Given the description of an element on the screen output the (x, y) to click on. 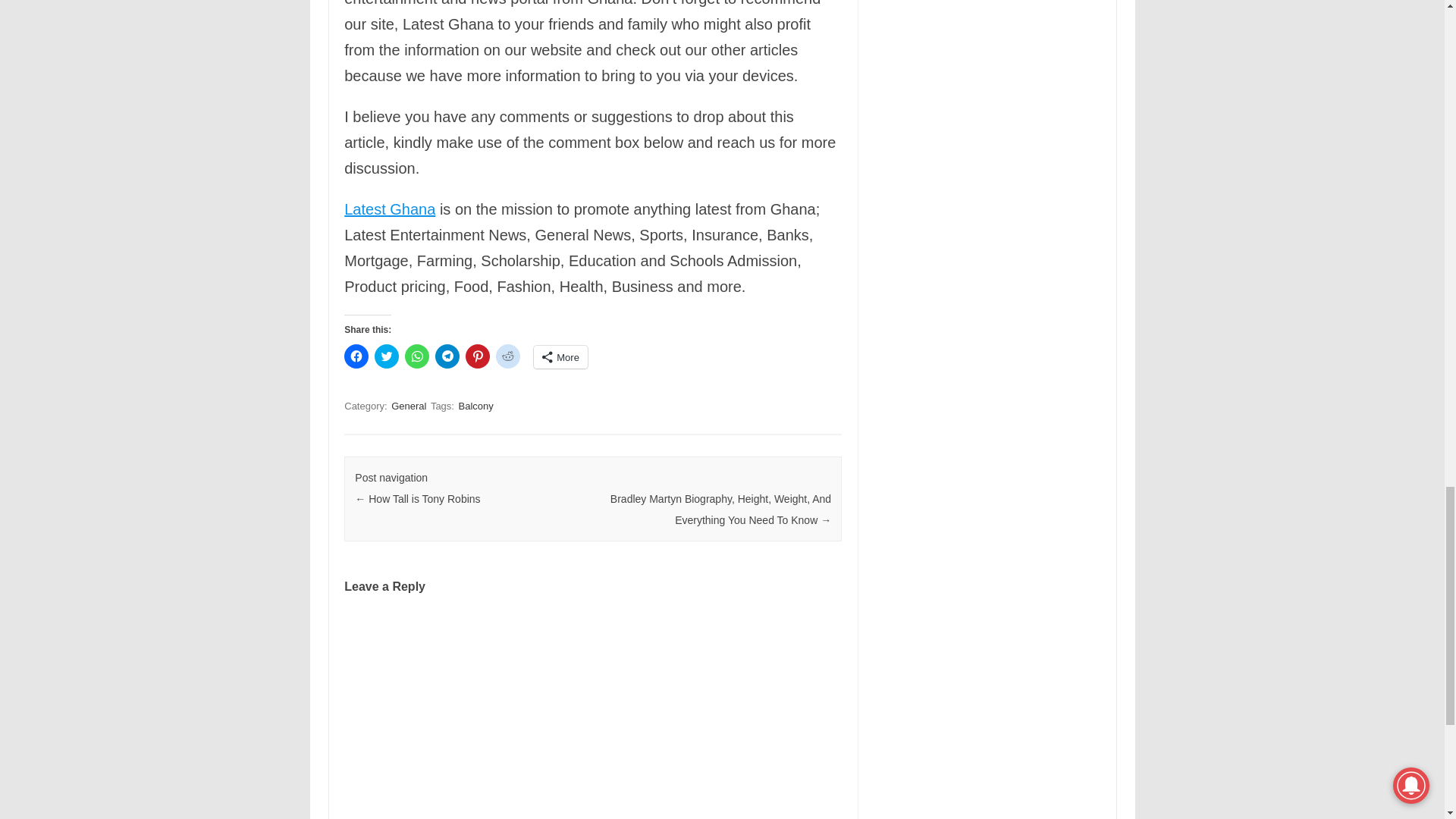
Click to share on Pinterest (477, 355)
Click to share on Reddit (507, 355)
Click to share on Facebook (355, 355)
More (561, 356)
General (409, 405)
Click to share on Twitter (386, 355)
Latest Ghana (389, 208)
Click to share on Telegram (447, 355)
Click to share on WhatsApp (416, 355)
Comment Form (592, 716)
Balcony (476, 405)
